Given the description of an element on the screen output the (x, y) to click on. 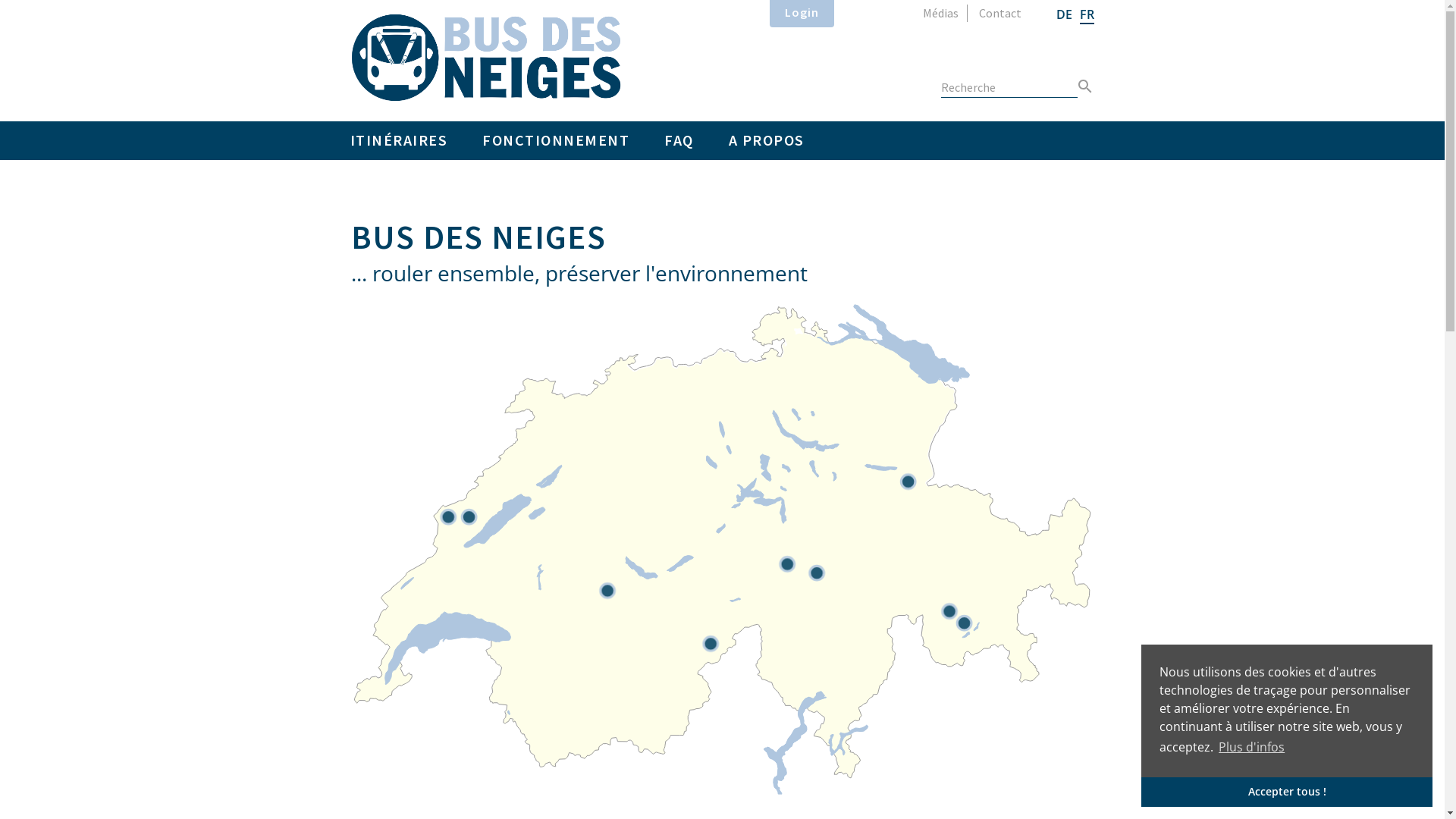
Plus d'infos Element type: text (1251, 746)
Contact Element type: text (999, 12)
Home Element type: text (485, 57)
DE Element type: text (1063, 14)
Accepter tous ! Element type: text (1286, 791)
FAQ Element type: text (678, 140)
FONCTIONNEMENT Element type: text (555, 140)
FR Element type: text (1086, 15)
A PROPOS Element type: text (766, 140)
